Given the description of an element on the screen output the (x, y) to click on. 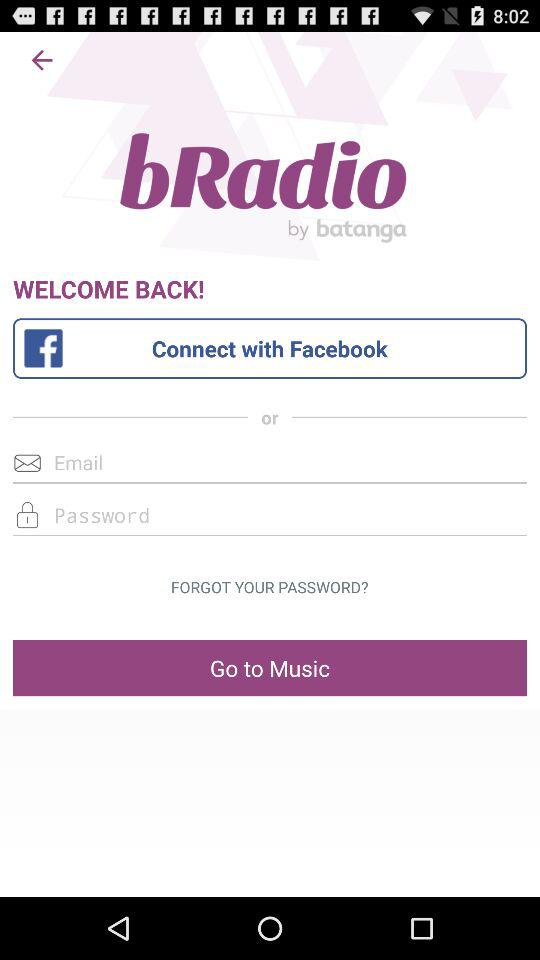
enter password (269, 514)
